Given the description of an element on the screen output the (x, y) to click on. 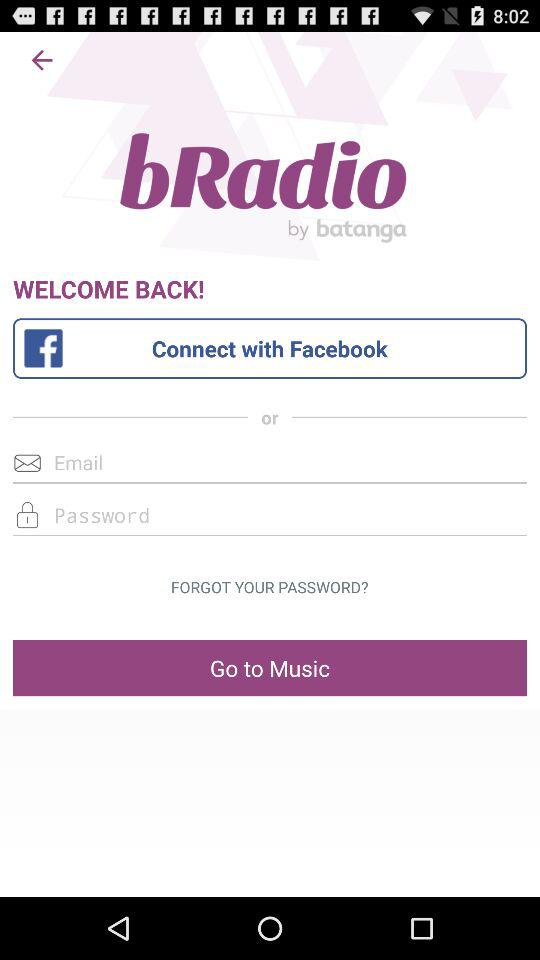
enter password (269, 514)
